Given the description of an element on the screen output the (x, y) to click on. 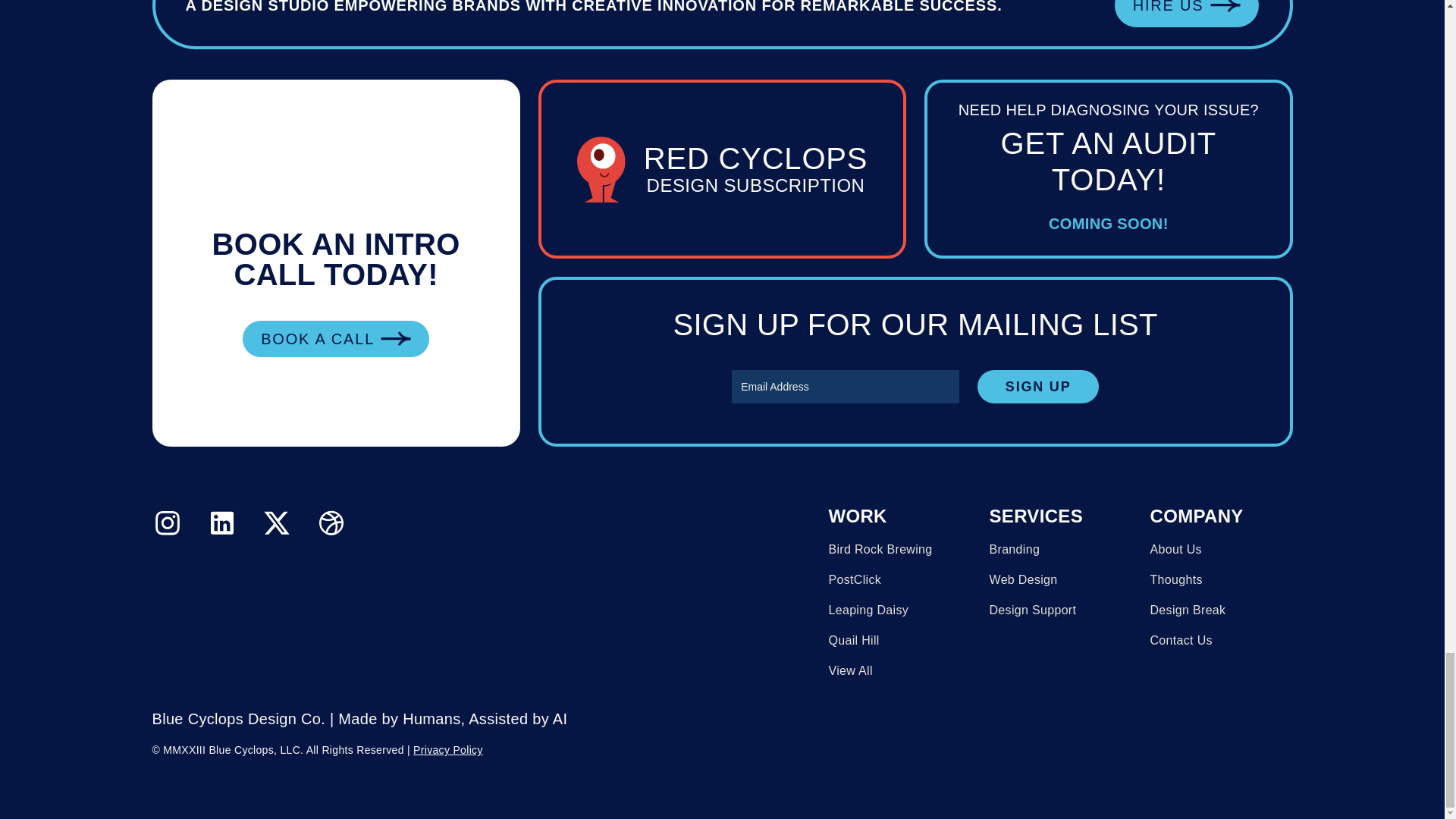
Quail Hill (853, 640)
About Us (721, 168)
Web Design (1175, 549)
Sign up (1022, 580)
Contact Us (1037, 386)
Bird Rock Brewing (1180, 640)
Design Break (879, 549)
Design Support (1187, 610)
Sign up (1031, 610)
PostClick (1037, 386)
Privacy Policy (854, 580)
Thoughts (448, 749)
Leaping Daisy (1176, 580)
